Given the description of an element on the screen output the (x, y) to click on. 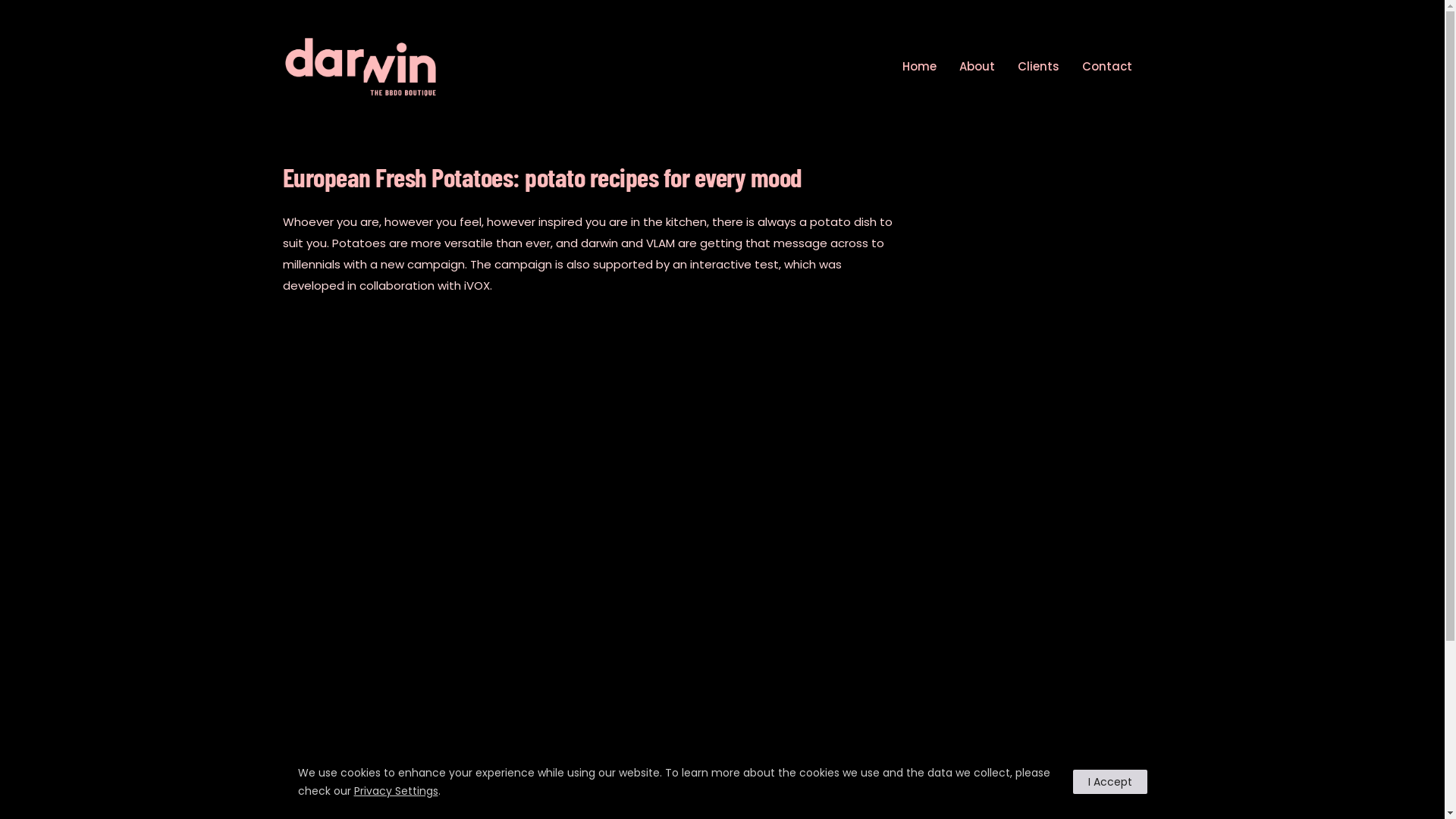
About Element type: text (975, 65)
Contact Element type: text (1106, 65)
Home Element type: text (919, 65)
Privacy Settings Element type: text (395, 790)
Clients Element type: text (1038, 65)
